Given the description of an element on the screen output the (x, y) to click on. 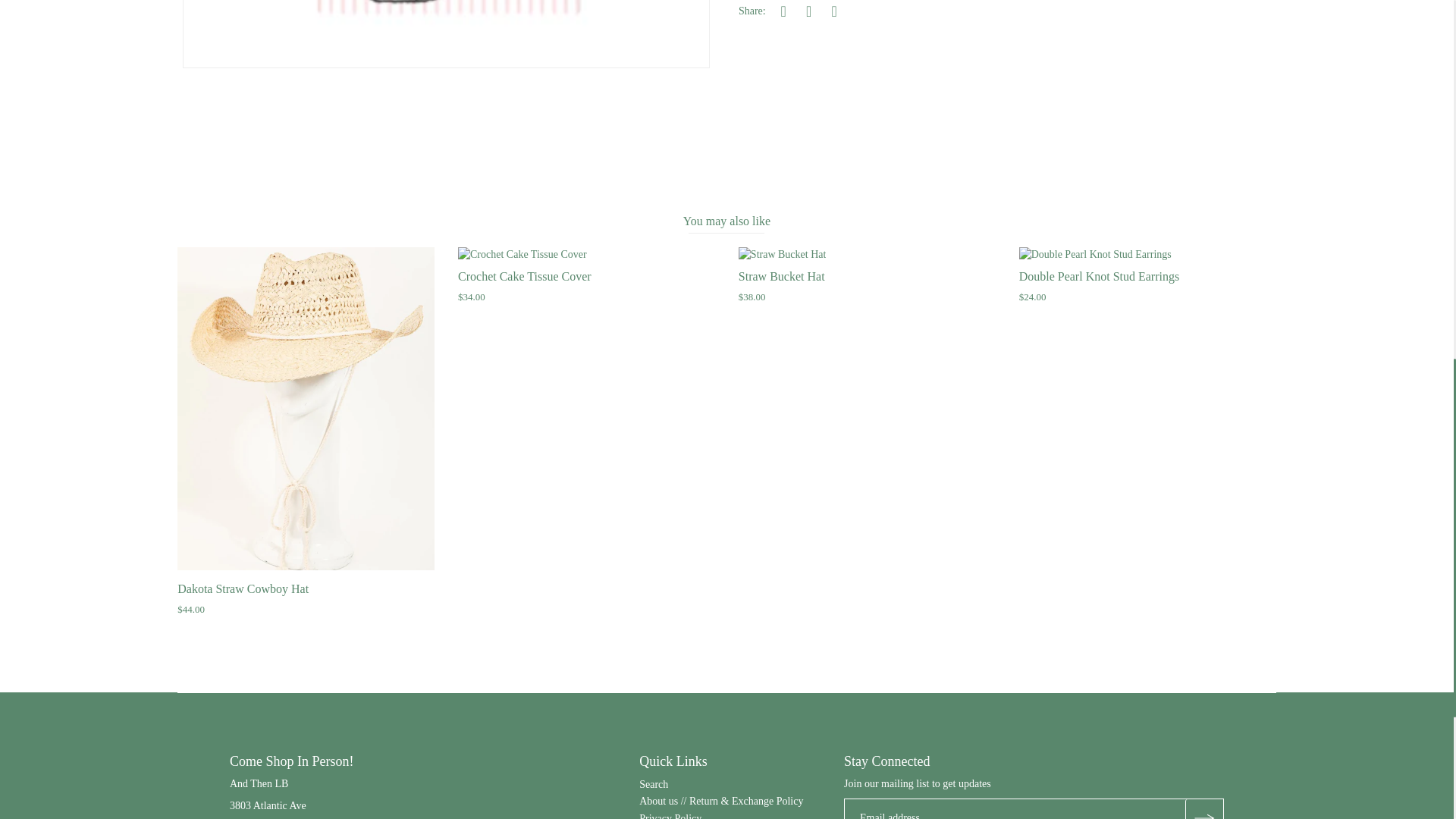
Share on Pinterest (833, 11)
Share on Twitter (809, 11)
Share on Facebook (782, 11)
